Given the description of an element on the screen output the (x, y) to click on. 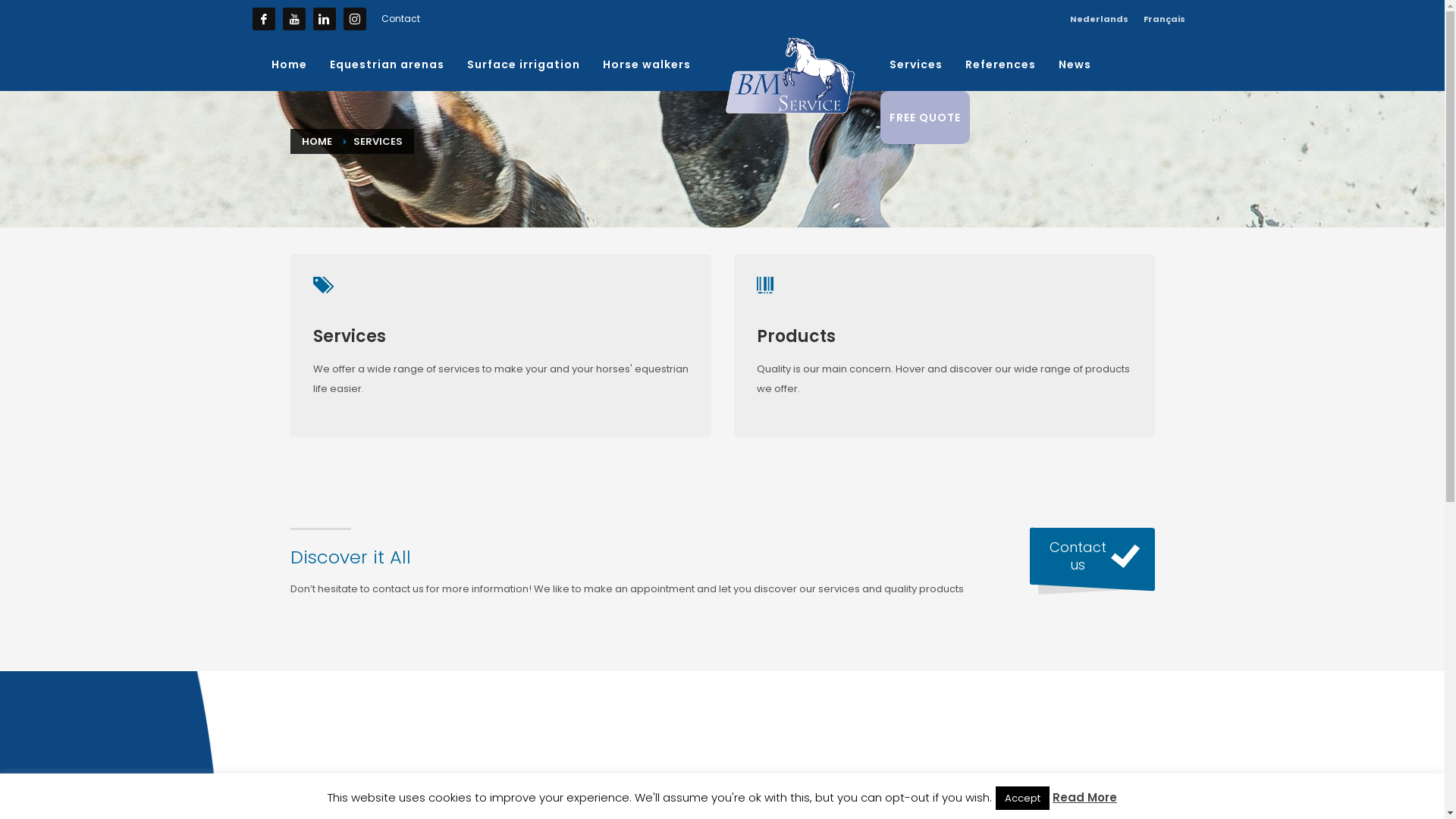
Contact Element type: text (399, 18)
Horse walkers Element type: text (646, 64)
References Element type: text (1000, 64)
FREE QUOTE Element type: text (924, 117)
Read More Element type: text (1084, 797)
Accept Element type: text (1022, 797)
HOME Element type: text (316, 141)
Surface irrigation Element type: text (523, 64)
News Element type: text (1074, 64)
Contact us Element type: text (1091, 555)
Equestrian arenas Element type: text (386, 64)
LinkedIn Element type: hover (323, 18)
FB Element type: hover (262, 18)
Services Element type: text (915, 64)
IG Element type: hover (353, 18)
Nederlands Element type: text (1098, 18)
Home Element type: text (289, 64)
YT Element type: hover (293, 18)
